Given the description of an element on the screen output the (x, y) to click on. 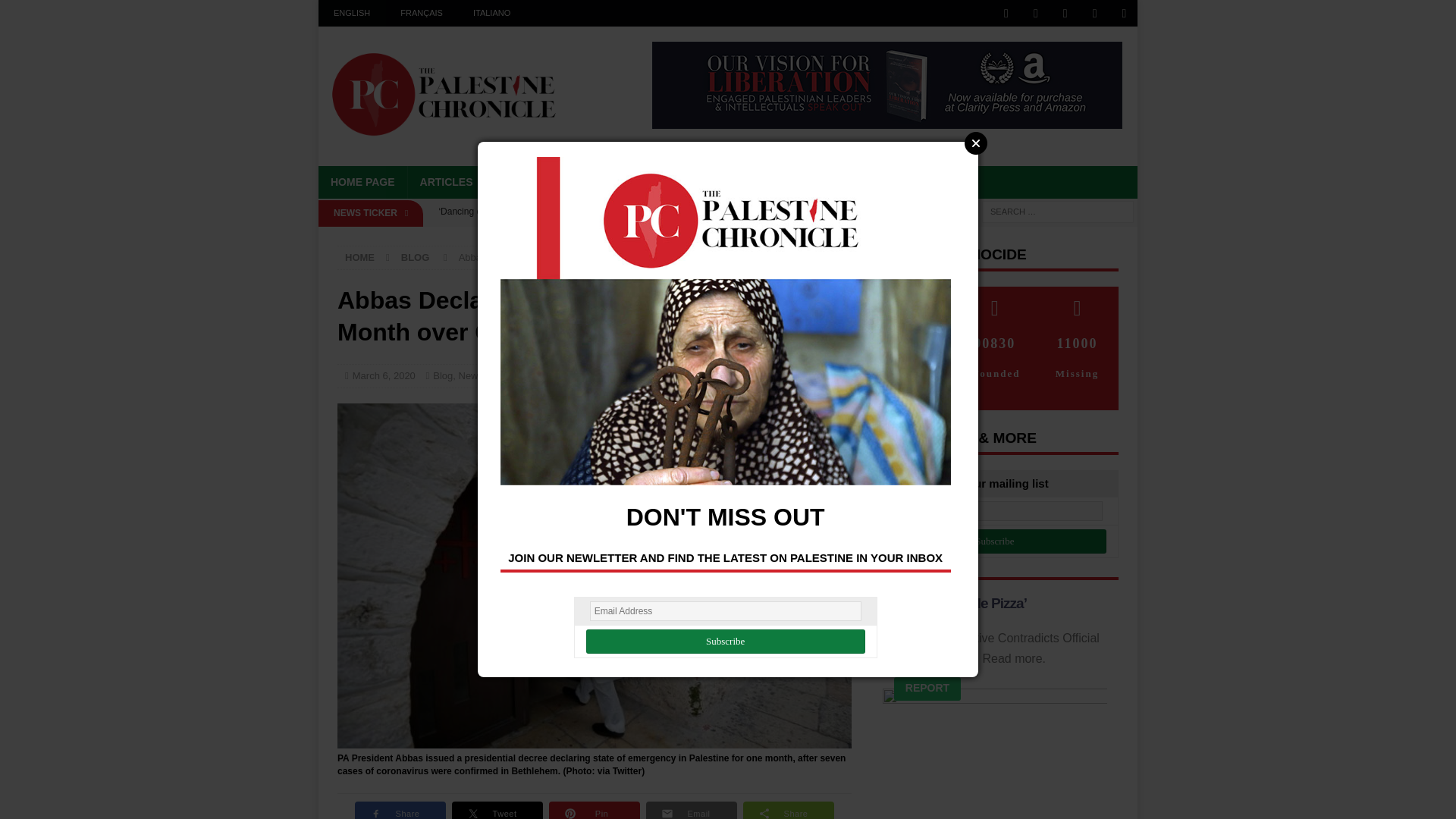
Search (56, 11)
VIDEOS (629, 182)
HOME (359, 256)
SUPPORT US (846, 182)
NEWS (512, 182)
BLOG (568, 182)
Subscribe (725, 641)
ARTICLES (445, 182)
REVIEWS (699, 182)
ABOUT (767, 182)
Subscribe (994, 541)
ITALIANO (491, 13)
CONTACT US (940, 182)
